Given the description of an element on the screen output the (x, y) to click on. 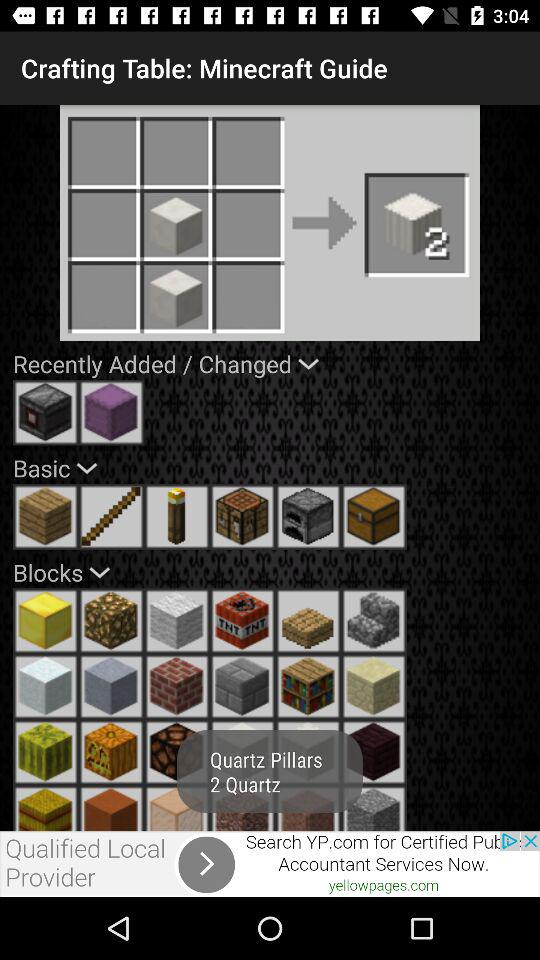
select quartz pillars (373, 621)
